Given the description of an element on the screen output the (x, y) to click on. 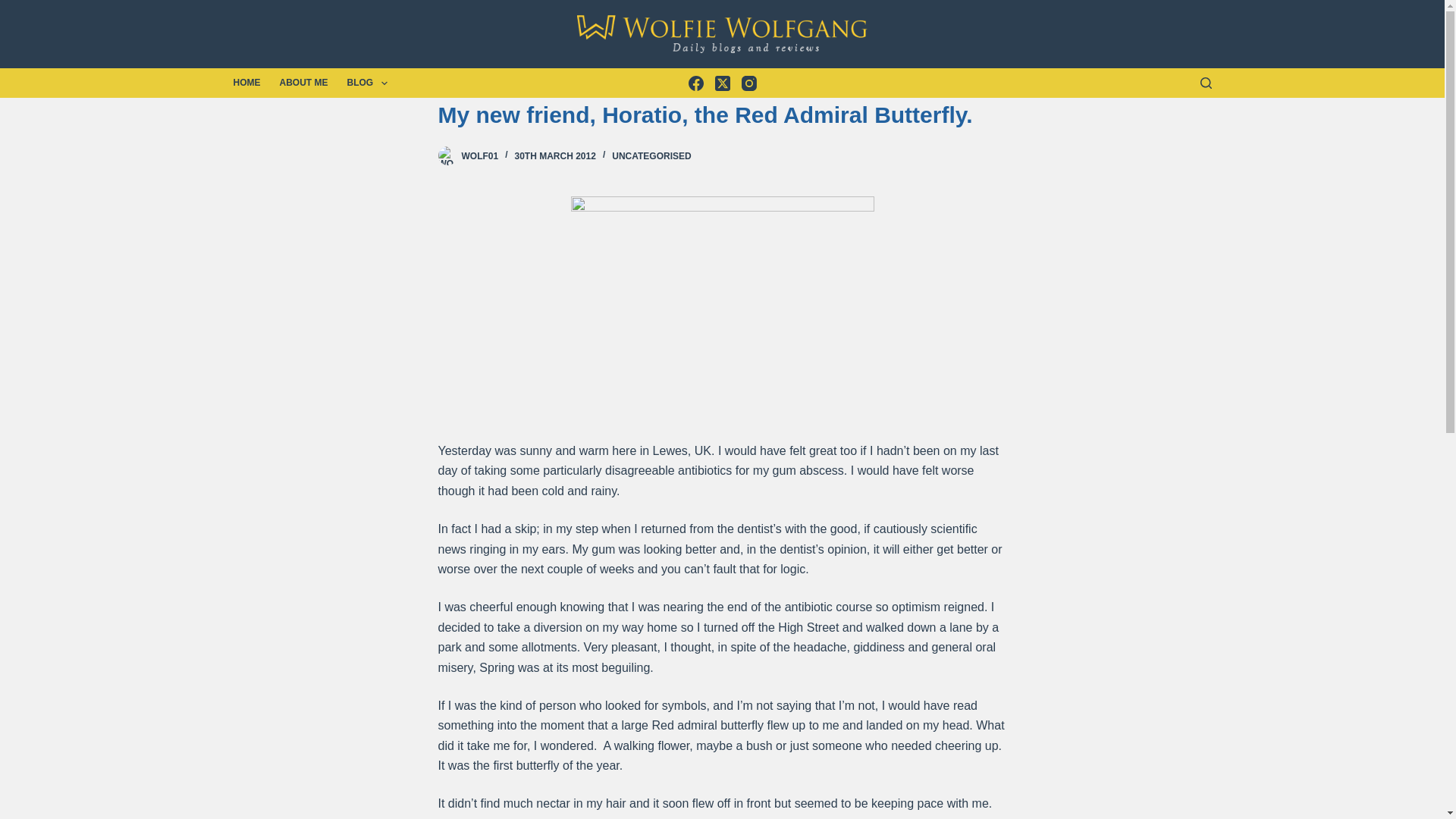
ABOUT ME (303, 82)
My new friend, Horatio, the Red Admiral Butterfly. (722, 114)
Posts by wolf01 (479, 155)
HOME (251, 82)
BLOG (366, 82)
Skip to content (15, 7)
